Given the description of an element on the screen output the (x, y) to click on. 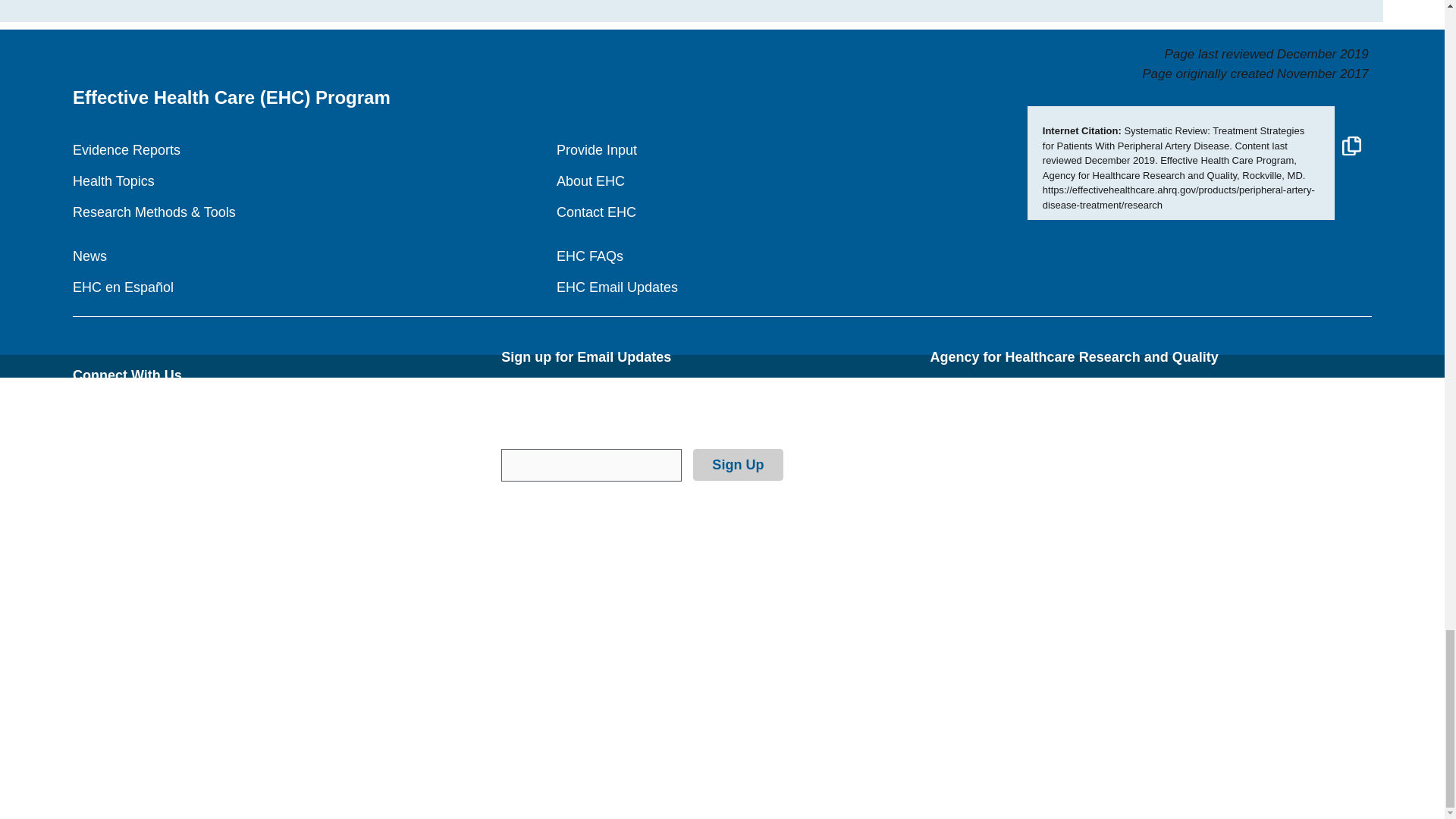
Sign Up (738, 464)
